Given the description of an element on the screen output the (x, y) to click on. 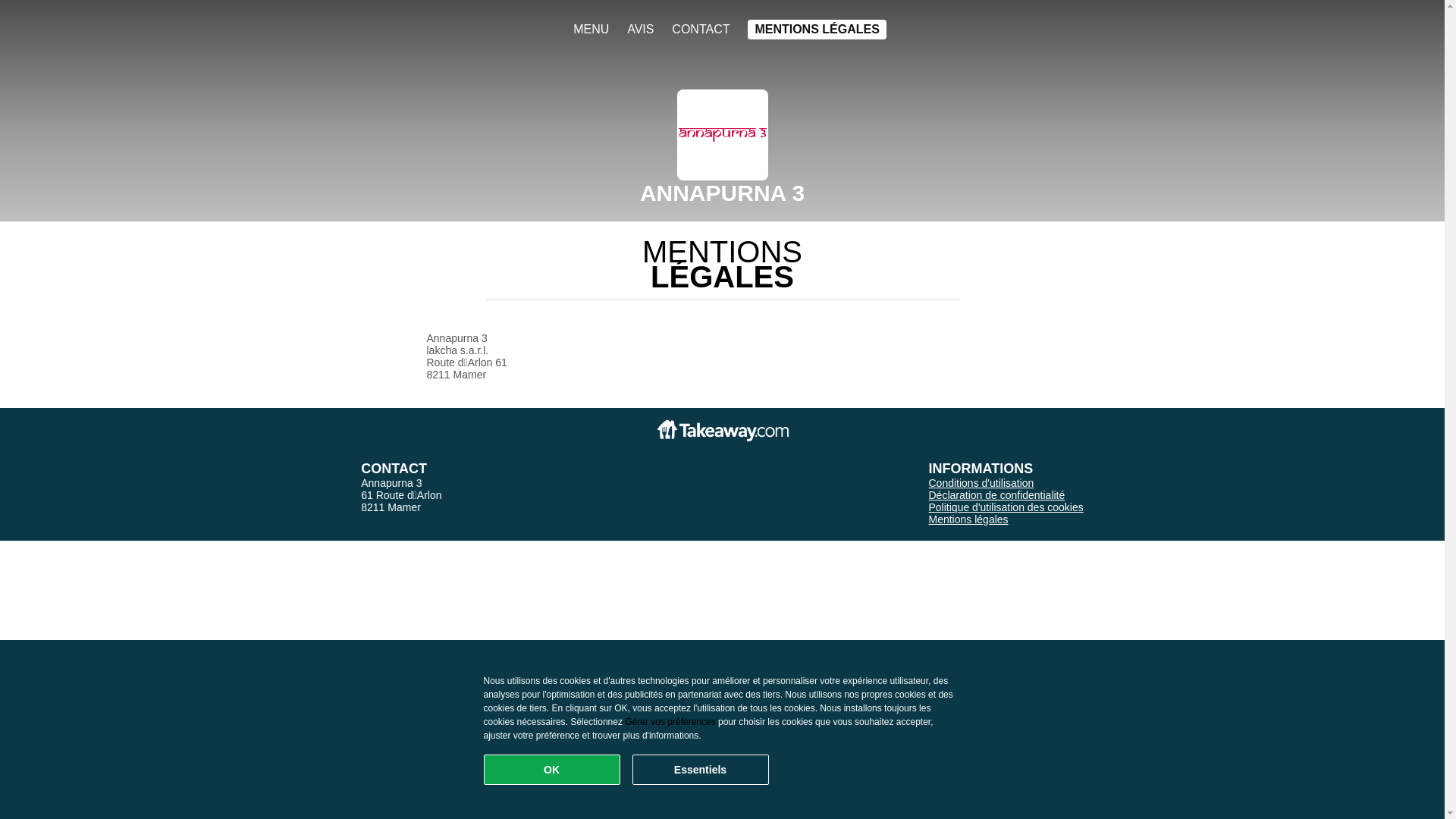
AVIS Element type: text (640, 29)
Essentiels Element type: text (700, 769)
MENU Element type: text (590, 29)
OK Element type: text (551, 769)
CONTACT Element type: text (700, 29)
Politique d'utilisation des cookies Element type: text (1005, 507)
Conditions d'utilisation Element type: text (980, 482)
